Given the description of an element on the screen output the (x, y) to click on. 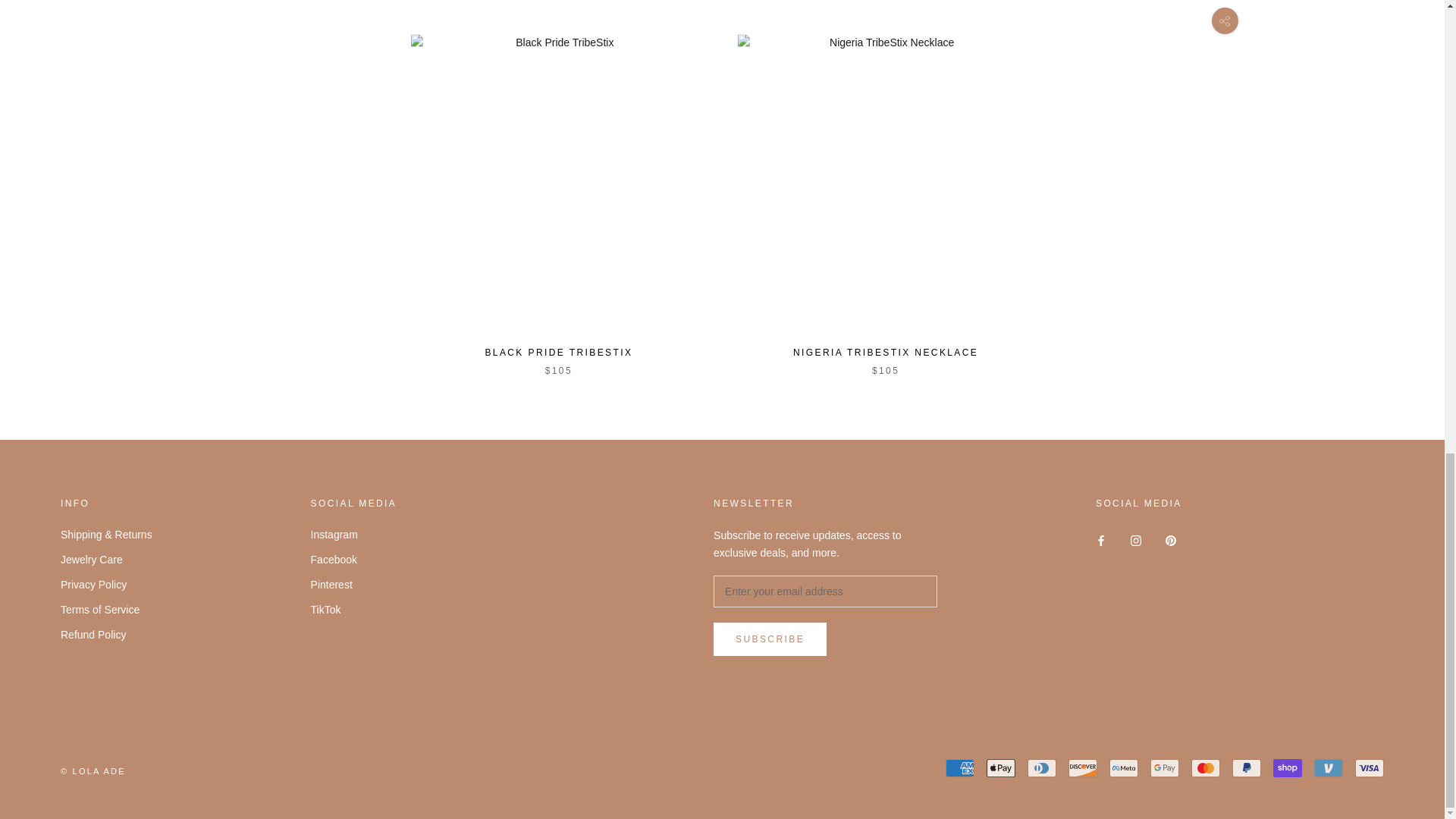
Visa (1369, 768)
Shop Pay (1286, 768)
Diners Club (1042, 768)
Mastercard (1205, 768)
Google Pay (1164, 768)
Discover (1082, 768)
Apple Pay (1000, 768)
Venmo (1328, 768)
Meta Pay (1123, 768)
PayPal (1245, 768)
American Express (959, 768)
